Given the description of an element on the screen output the (x, y) to click on. 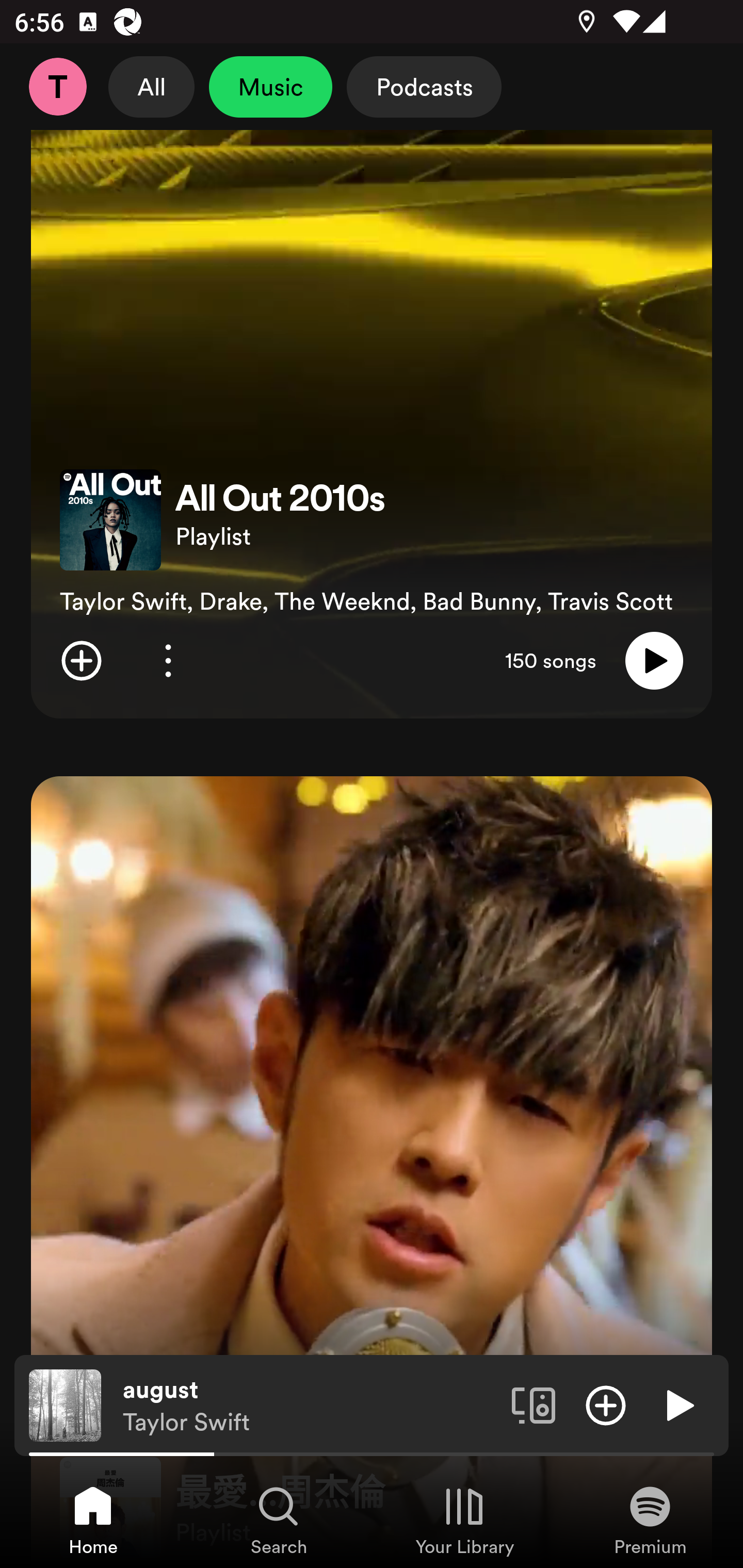
Profile (57, 86)
All Select All (151, 86)
Music Unselect Music (270, 86)
Podcasts Select Podcasts (423, 86)
Add item (80, 660)
Play (653, 660)
august Taylor Swift (309, 1405)
The cover art of the currently playing track (64, 1404)
Connect to a device. Opens the devices menu (533, 1404)
Add item (605, 1404)
Play (677, 1404)
Home, Tab 1 of 4 Home Home (92, 1519)
Search, Tab 2 of 4 Search Search (278, 1519)
Your Library, Tab 3 of 4 Your Library Your Library (464, 1519)
Premium, Tab 4 of 4 Premium Premium (650, 1519)
